Given the description of an element on the screen output the (x, y) to click on. 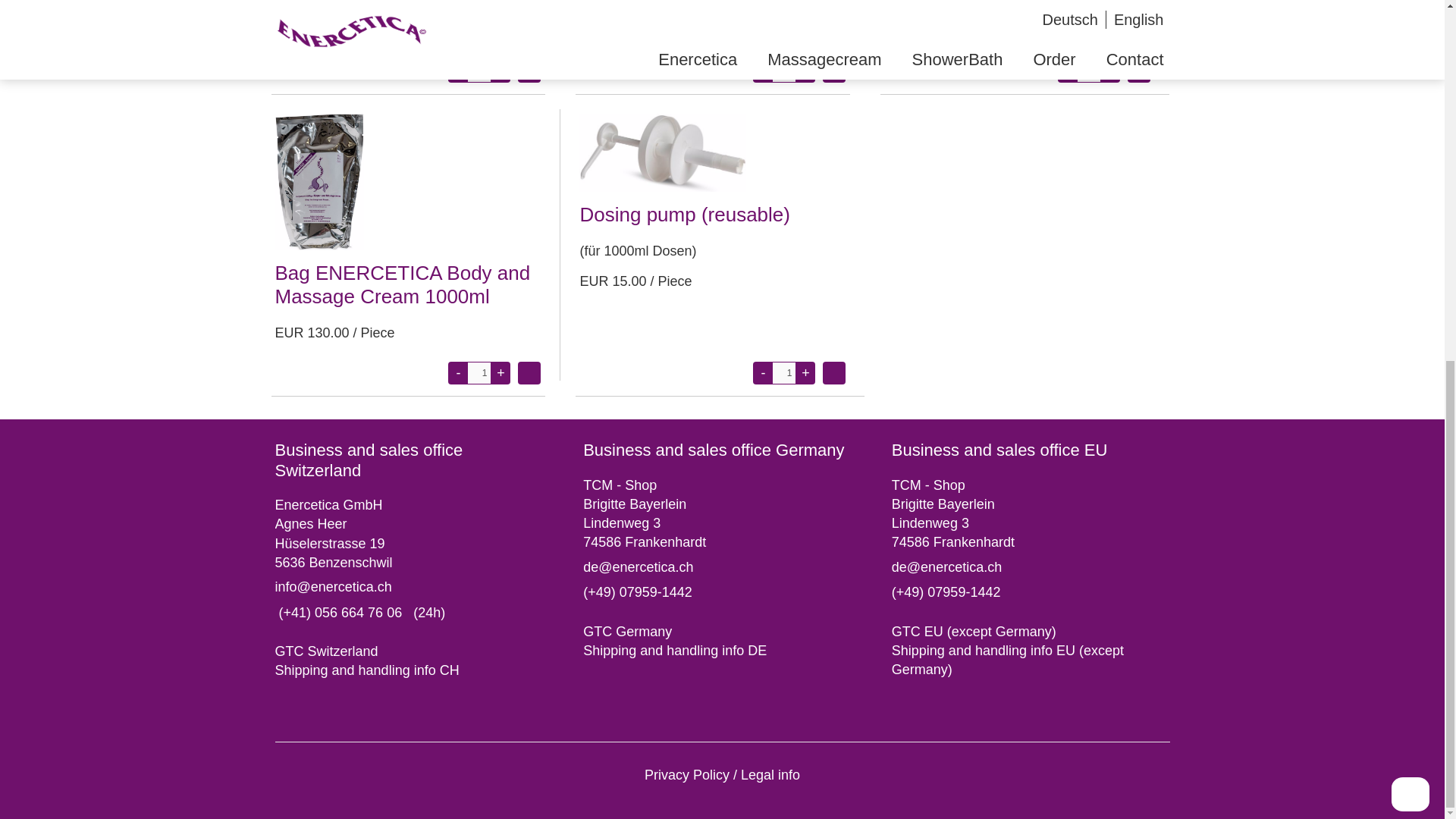
1 (783, 70)
GTC Switzerland (326, 651)
GTC Germany (627, 631)
1 (783, 372)
1 (478, 70)
Shipping and handling info CH (366, 670)
1 (1088, 70)
1 (478, 372)
Shipping and handling info DE (675, 650)
